Given the description of an element on the screen output the (x, y) to click on. 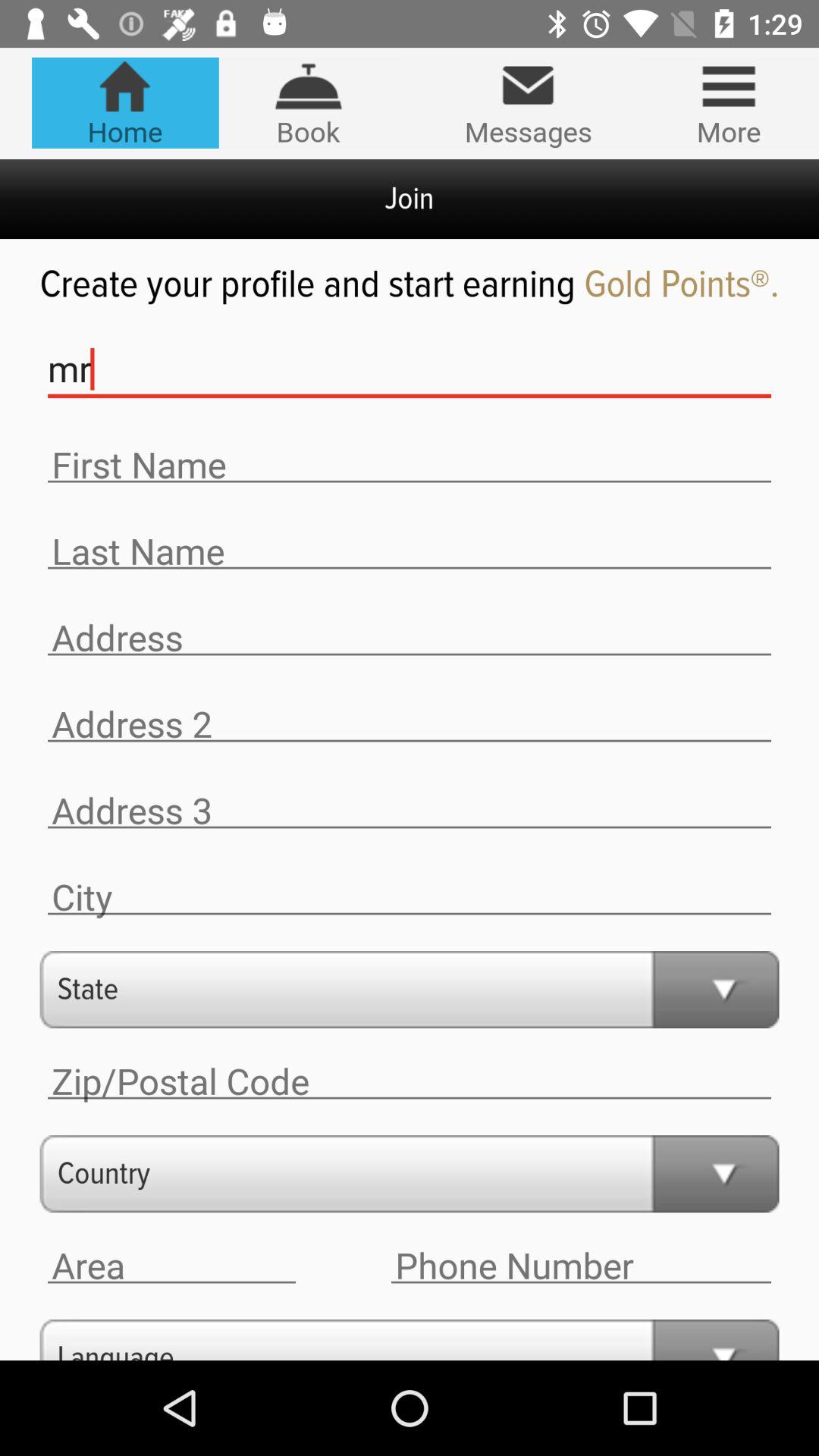
text area (581, 1266)
